Given the description of an element on the screen output the (x, y) to click on. 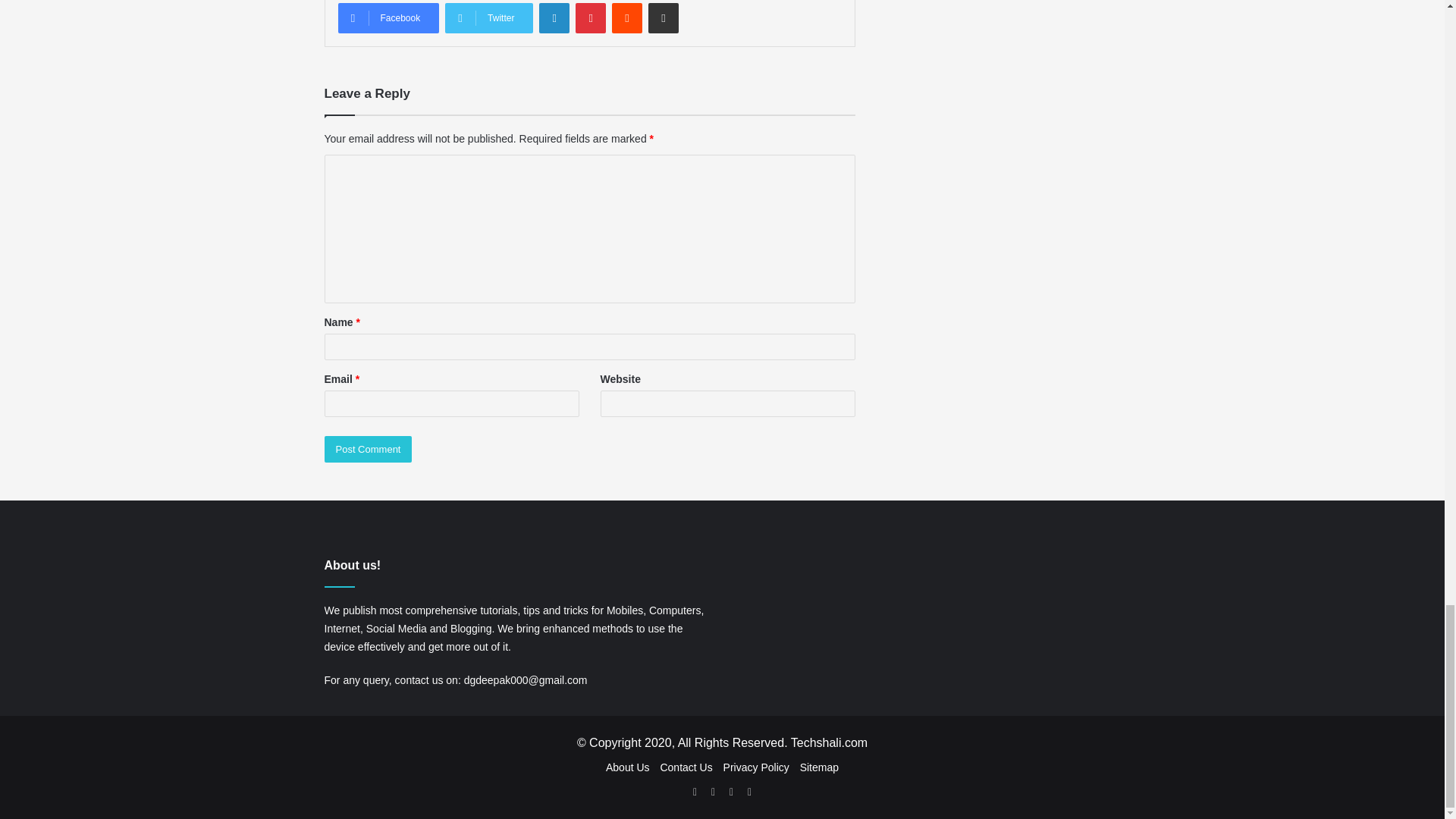
RSS (694, 791)
Pinterest (590, 18)
Privacy Policy (756, 767)
LinkedIn (553, 18)
Twitter (488, 18)
Facebook (388, 18)
Share via Email (662, 18)
Reddit (626, 18)
Post Comment (368, 448)
Facebook (712, 791)
